Given the description of an element on the screen output the (x, y) to click on. 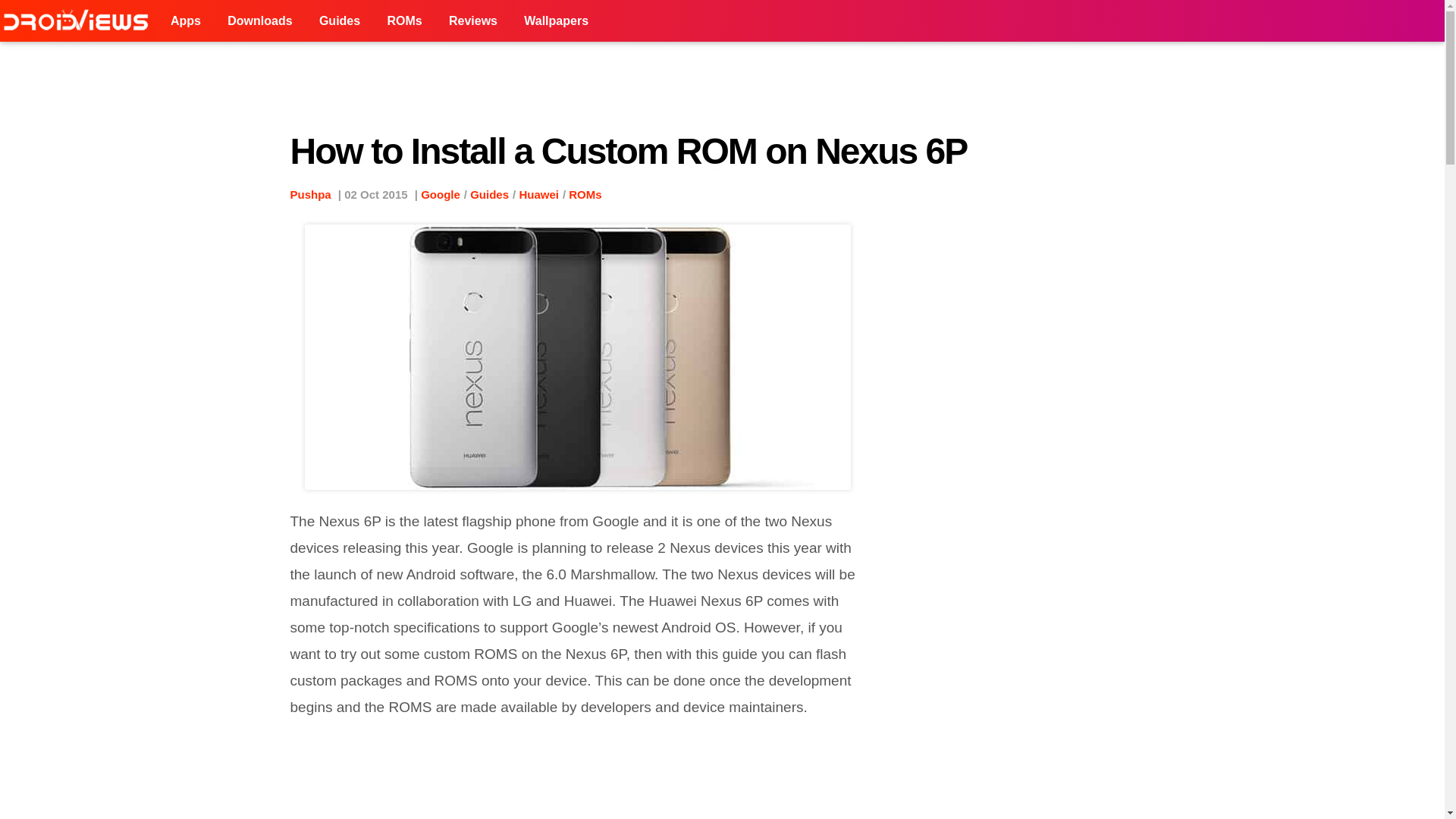
Downloads (258, 20)
Apps (185, 20)
Guides (339, 20)
ROMs (403, 20)
DroidViews (79, 20)
Guides (489, 194)
Google (440, 194)
Wallpapers (555, 20)
ROMs (585, 194)
Reviews (473, 20)
